Given the description of an element on the screen output the (x, y) to click on. 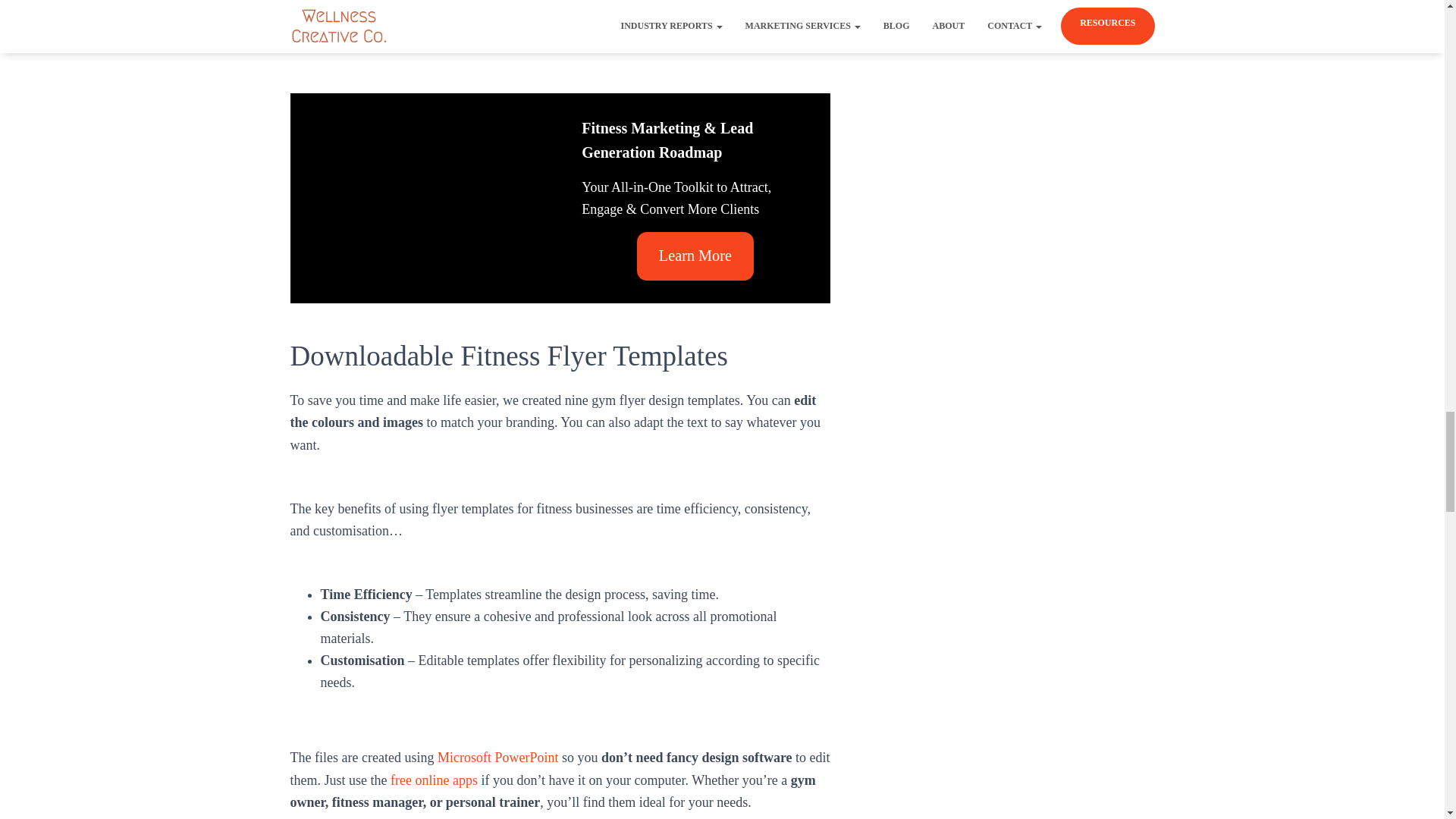
Adobe InDesign (536, 39)
Learn More (695, 255)
Microsoft PowerPoint (498, 757)
PowerPoint (355, 39)
free online apps (433, 780)
Google Slides (431, 39)
